Given the description of an element on the screen output the (x, y) to click on. 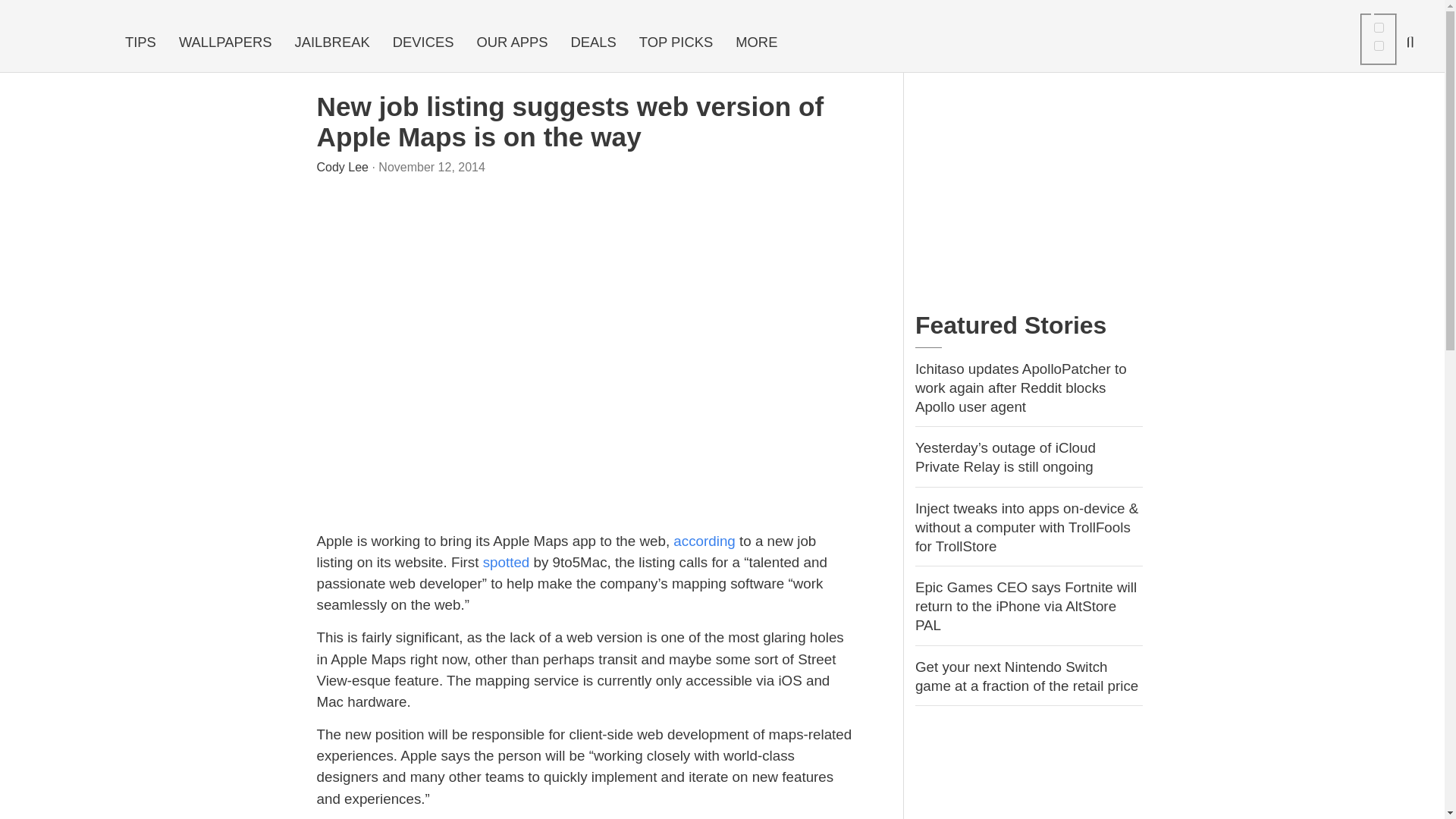
JAILBREAK (332, 42)
Wallpapers (225, 42)
WALLPAPERS (225, 42)
TIPS (140, 42)
DEVICES (423, 42)
OUR APPS (511, 42)
Tips (140, 42)
